Given the description of an element on the screen output the (x, y) to click on. 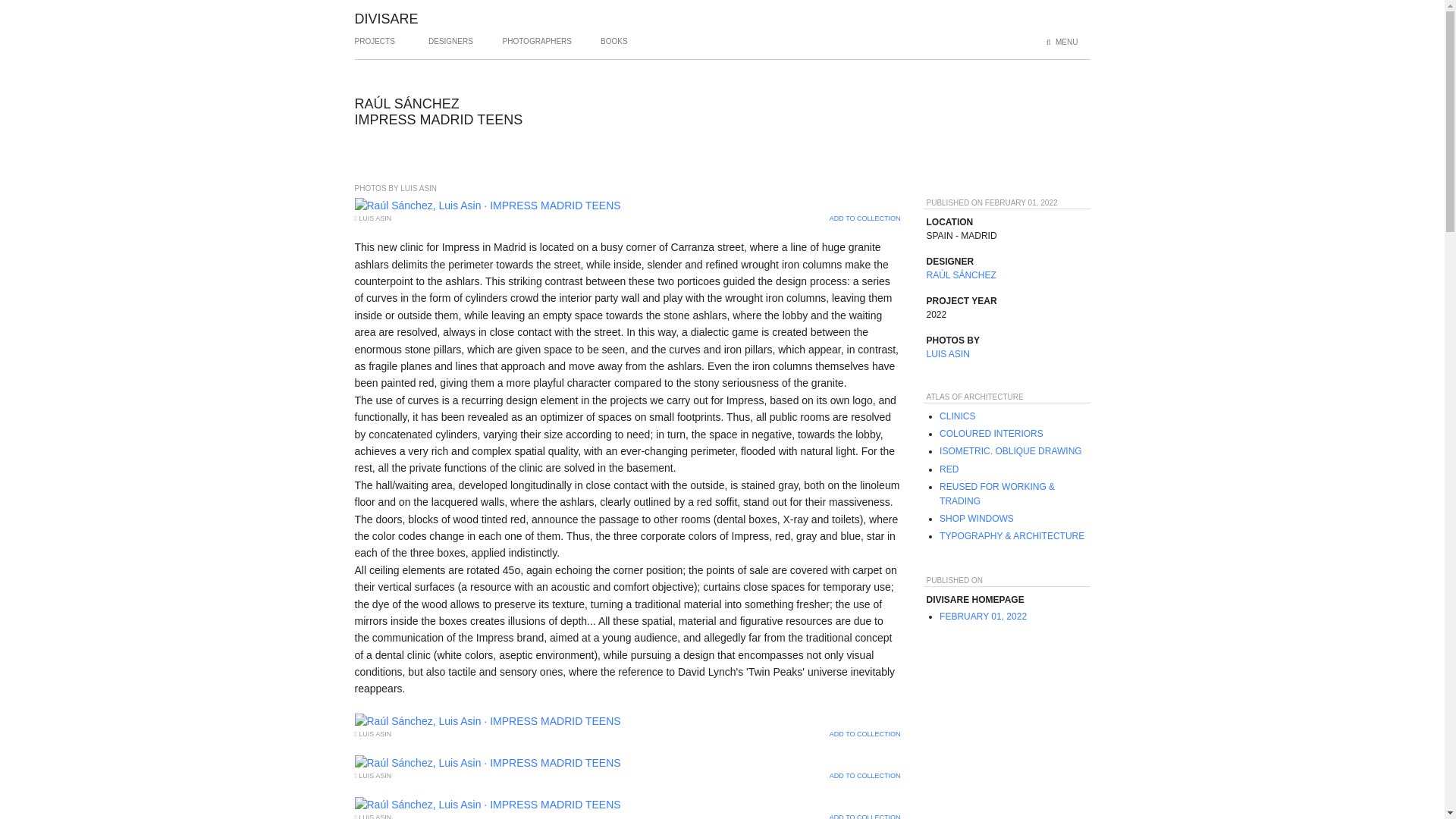
DIVISARE (387, 18)
PROJECTS (374, 46)
